Given the description of an element on the screen output the (x, y) to click on. 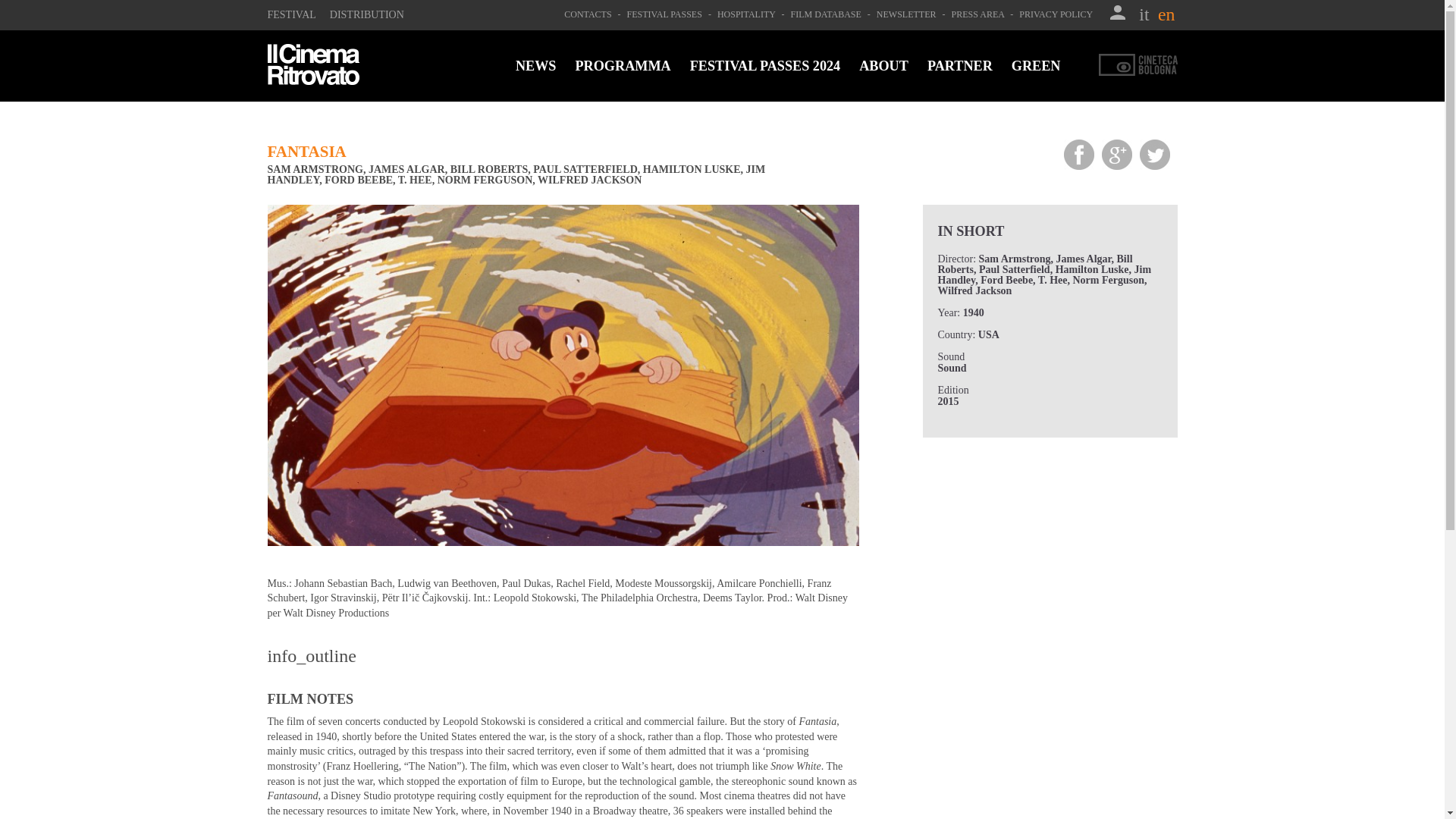
PRESS AREA (979, 14)
ABOUT (883, 65)
DISTRIBUTION (367, 14)
FESTIVAL (291, 14)
CONTACTS (588, 14)
PRIVACY POLICY (1056, 14)
PARTNER (959, 65)
FESTIVAL PASSES (665, 14)
HOSPITALITY (747, 14)
NEWS (535, 65)
